Given the description of an element on the screen output the (x, y) to click on. 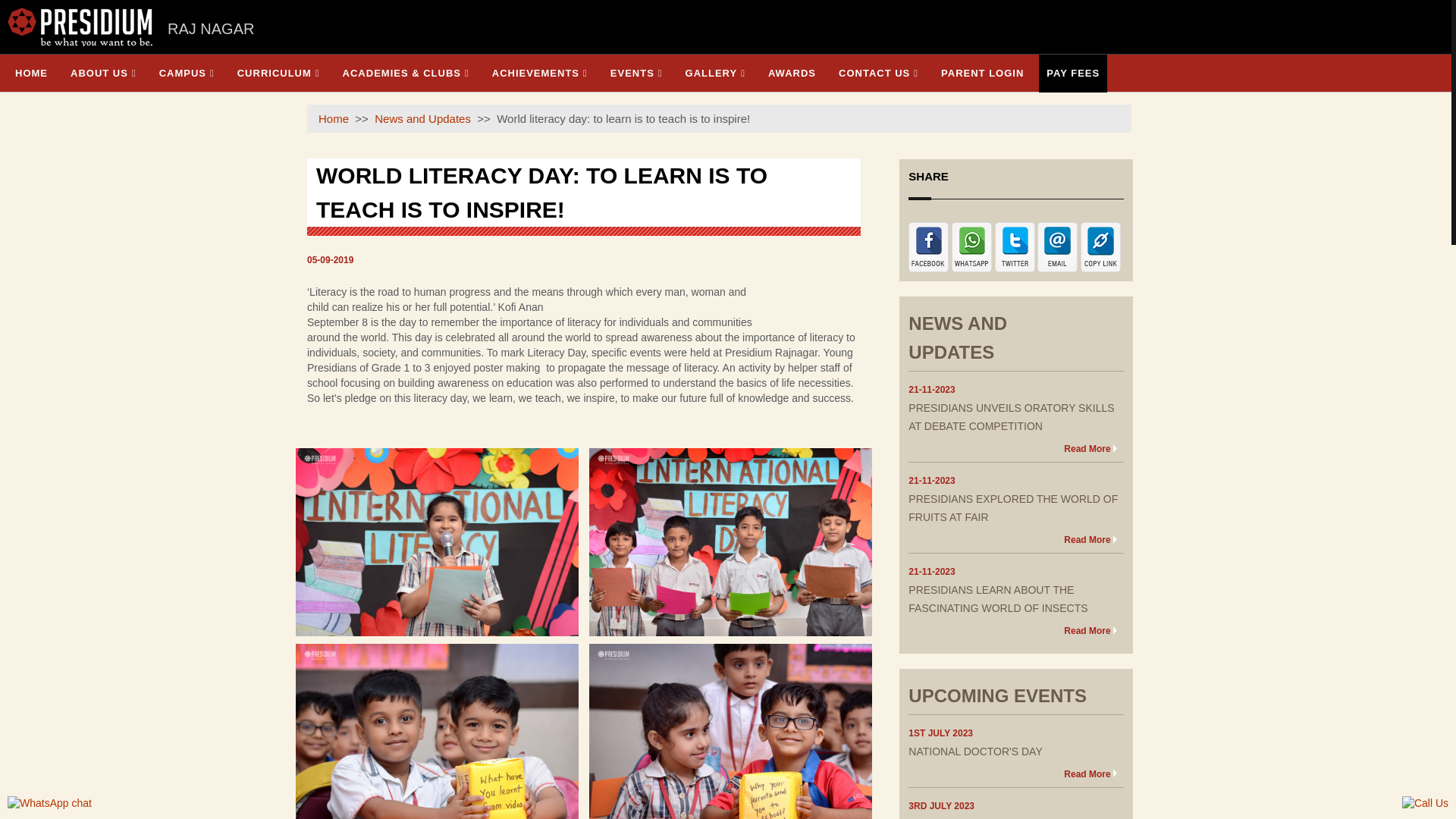
CURRICULUM (278, 72)
ABOUT US (103, 72)
HOME (31, 72)
CAMPUS (186, 72)
EVENTS (635, 72)
ACHIEVEMENTS (539, 72)
